Given the description of an element on the screen output the (x, y) to click on. 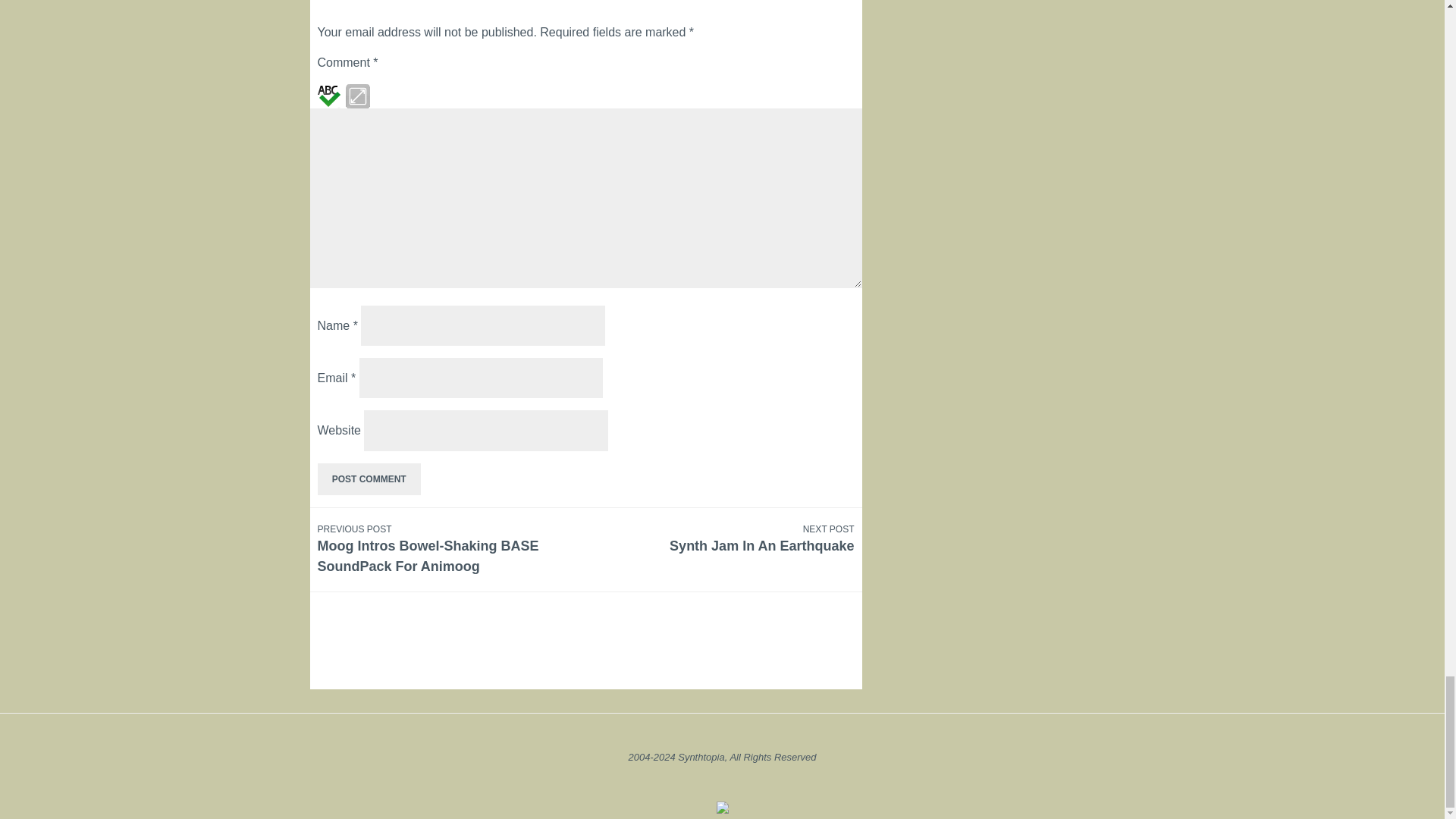
Post Comment (368, 479)
